Given the description of an element on the screen output the (x, y) to click on. 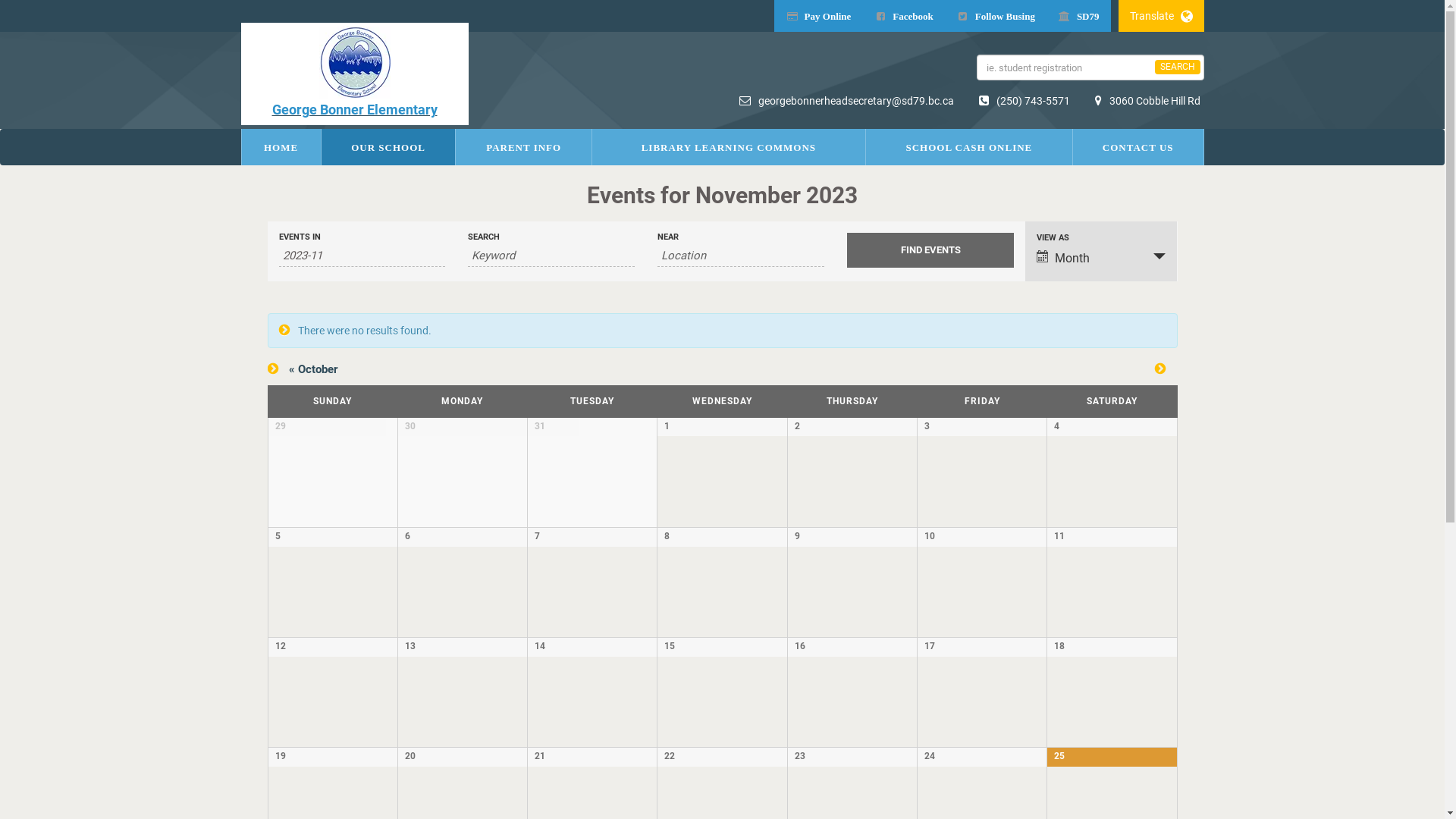
Translate   Element type: text (1160, 15)
Pay Online Element type: text (818, 15)
SEARCH Element type: text (1176, 66)
SD79 Element type: text (1078, 15)
CONTACT US Element type: text (1138, 146)
Facebook Element type: text (903, 15)
George Bonner Elementary Element type: text (354, 73)
LIBRARY LEARNING COMMONS Element type: text (728, 146)
SCHOOL CASH ONLINE Element type: text (969, 146)
PARENT INFO Element type: text (522, 146)
Follow Busing Element type: text (995, 15)
Month Element type: text (1100, 257)
HOME Element type: text (280, 146)
Find Events Element type: text (930, 249)
OUR SCHOOL Element type: text (388, 146)
